Given the description of an element on the screen output the (x, y) to click on. 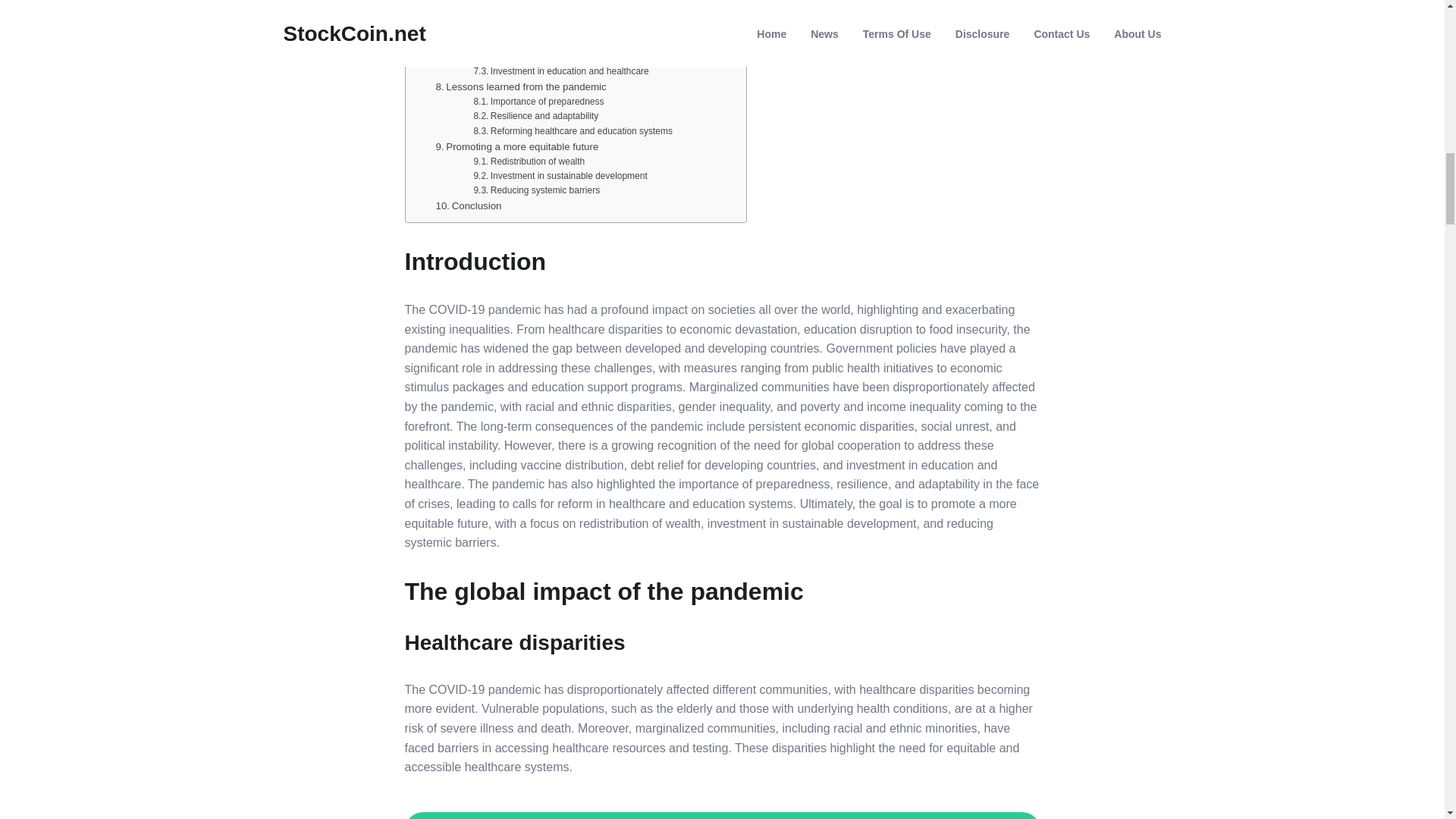
Importance of preparedness (538, 101)
Social unrest (508, 2)
Lessons learned from the pandemic (520, 86)
The need for global cooperation (511, 26)
Resilience and adaptability (535, 115)
Investment in education and healthcare (560, 71)
Addressing vaccine distribution (543, 42)
Political instability (516, 11)
Debt relief for developing countries (551, 56)
